Given the description of an element on the screen output the (x, y) to click on. 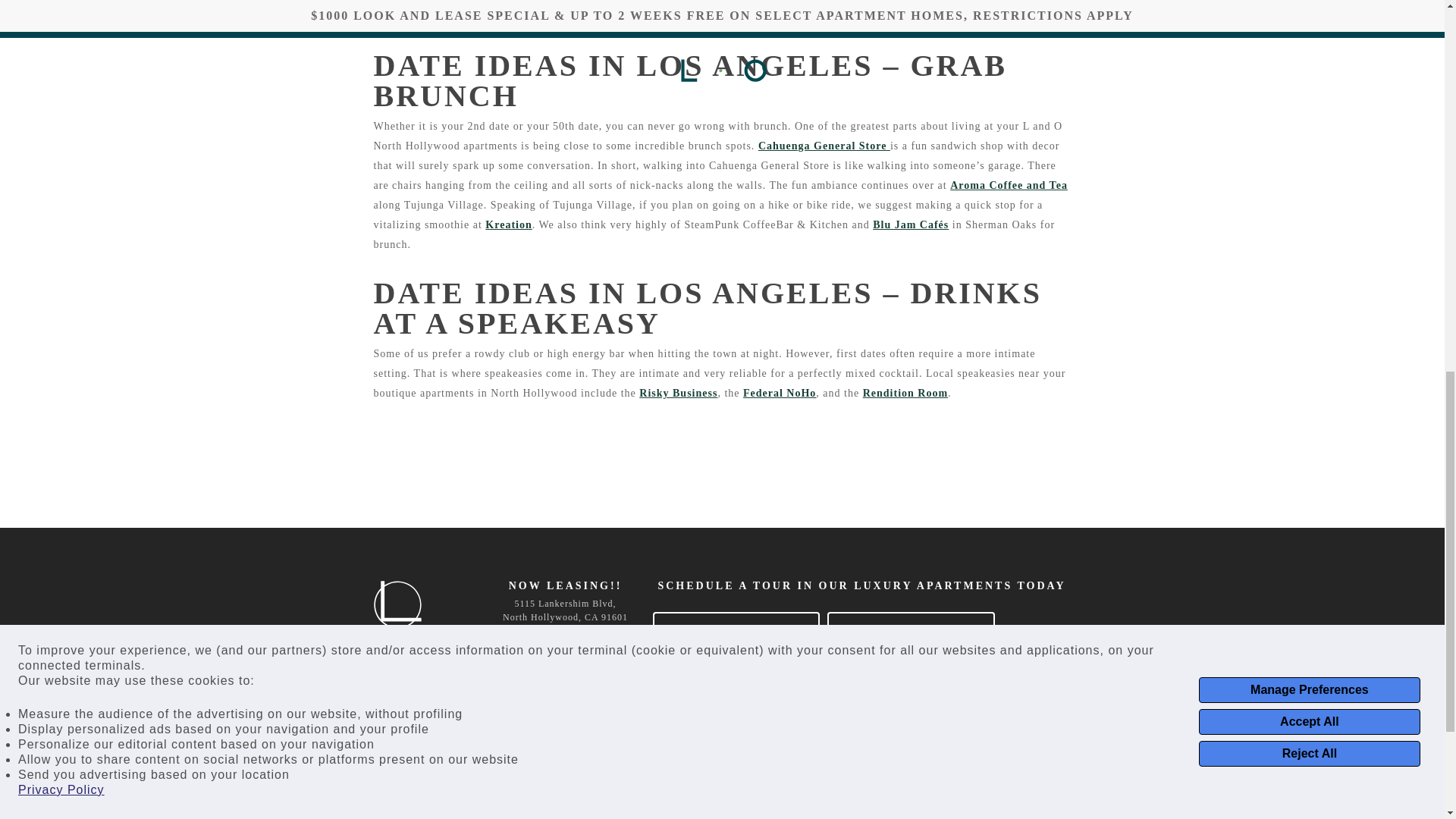
Aroma Coffee and Tea (1008, 184)
L and O Bike Kitchen (570, 1)
Kreation (507, 224)
Risky Business (678, 392)
Federal NoHo (778, 392)
Cahuenga General Store (823, 145)
